Given the description of an element on the screen output the (x, y) to click on. 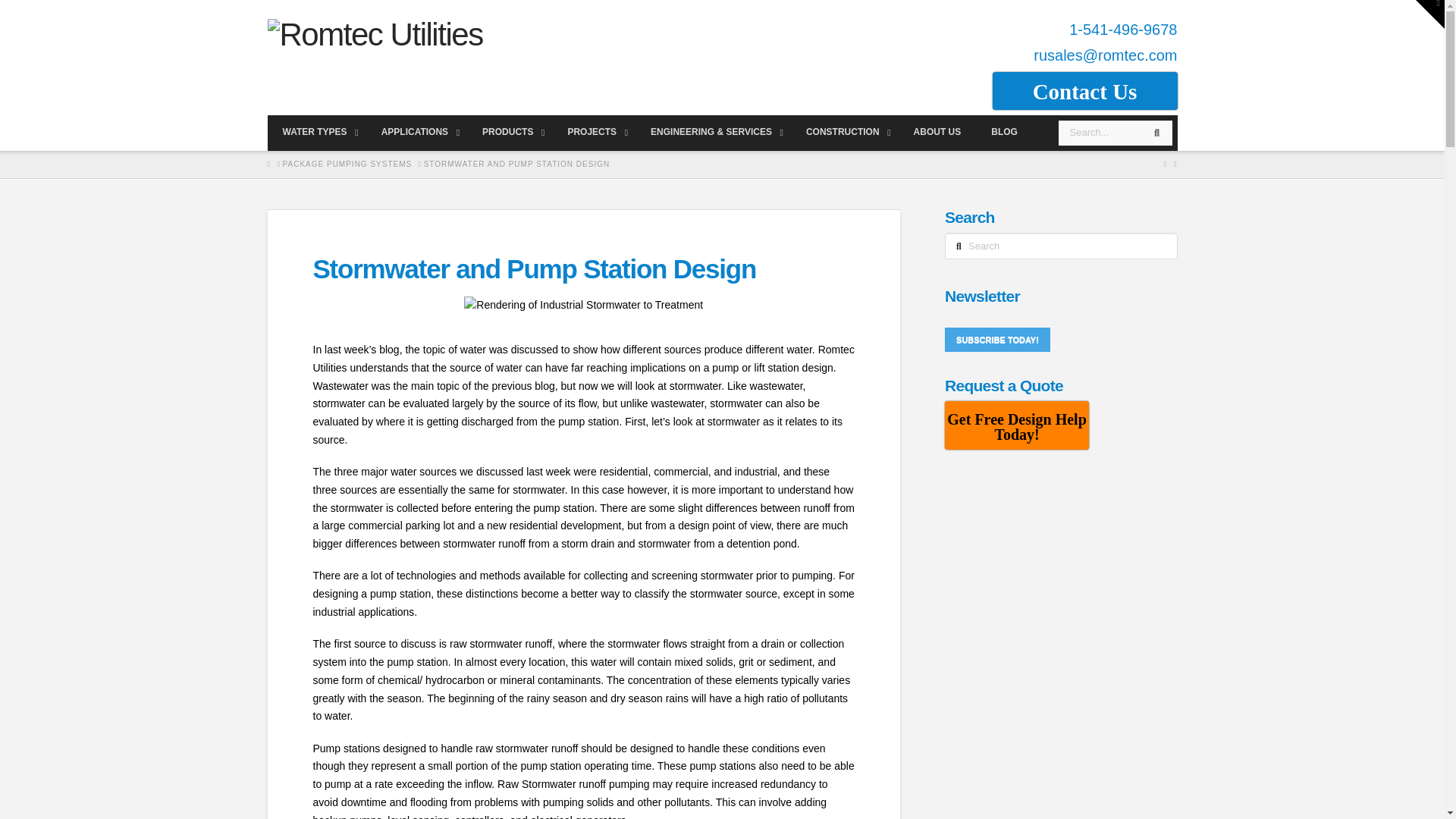
industrial-stormwater-to-treatment (583, 305)
WATER TYPES (315, 132)
APPLICATIONS (416, 132)
1-541-496-9678 (1122, 29)
You Are Here (516, 163)
Contact Us (1083, 90)
